Given the description of an element on the screen output the (x, y) to click on. 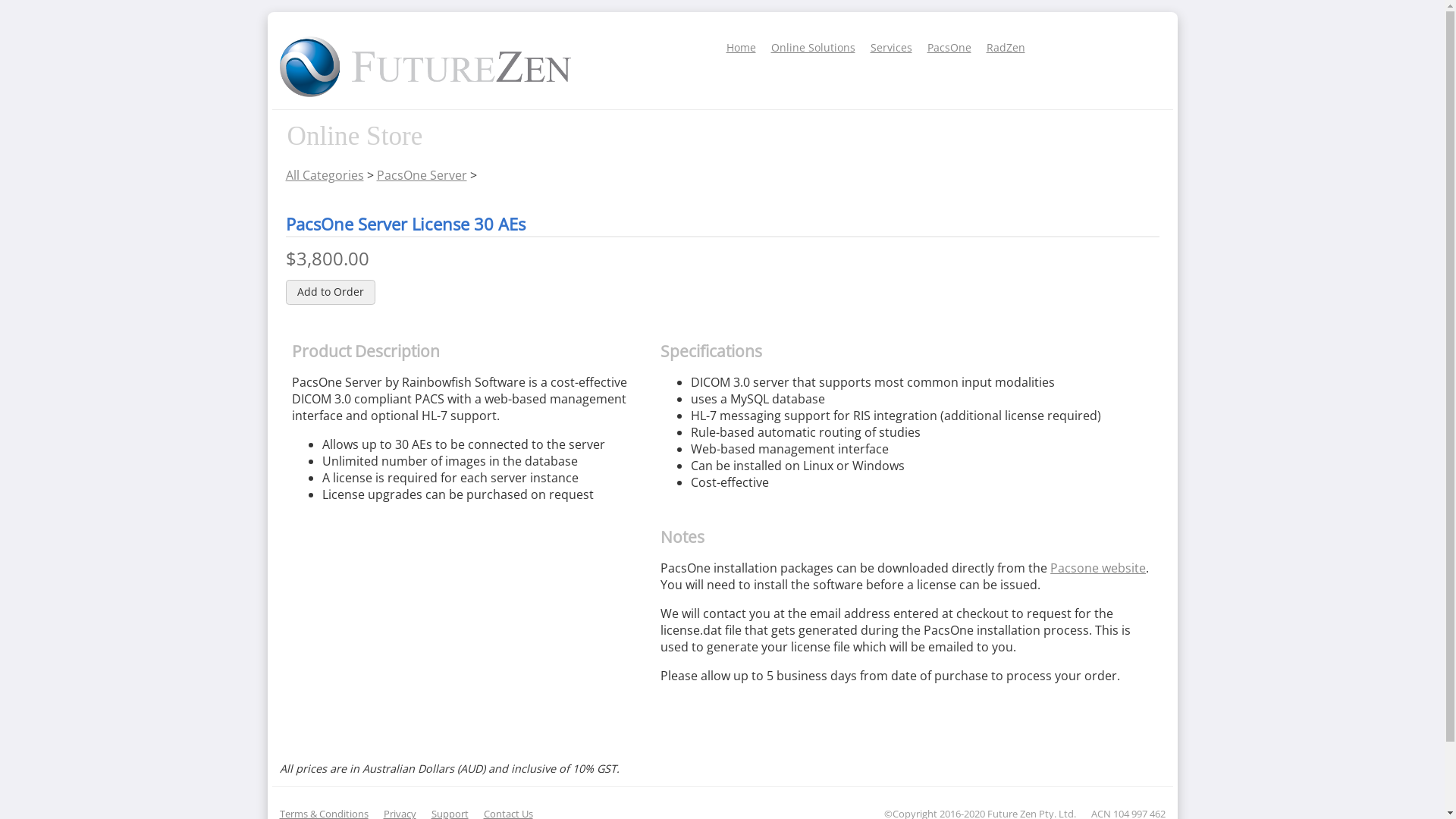
Home Element type: text (741, 47)
Services Element type: text (891, 47)
RadZen Element type: text (1004, 47)
PacsOne Element type: text (948, 47)
Online Solutions Element type: text (812, 47)
All Categories Element type: text (324, 174)
Add to Order Element type: text (330, 291)
Pacsone website Element type: text (1097, 567)
PacsOne Server Element type: text (421, 174)
